Given the description of an element on the screen output the (x, y) to click on. 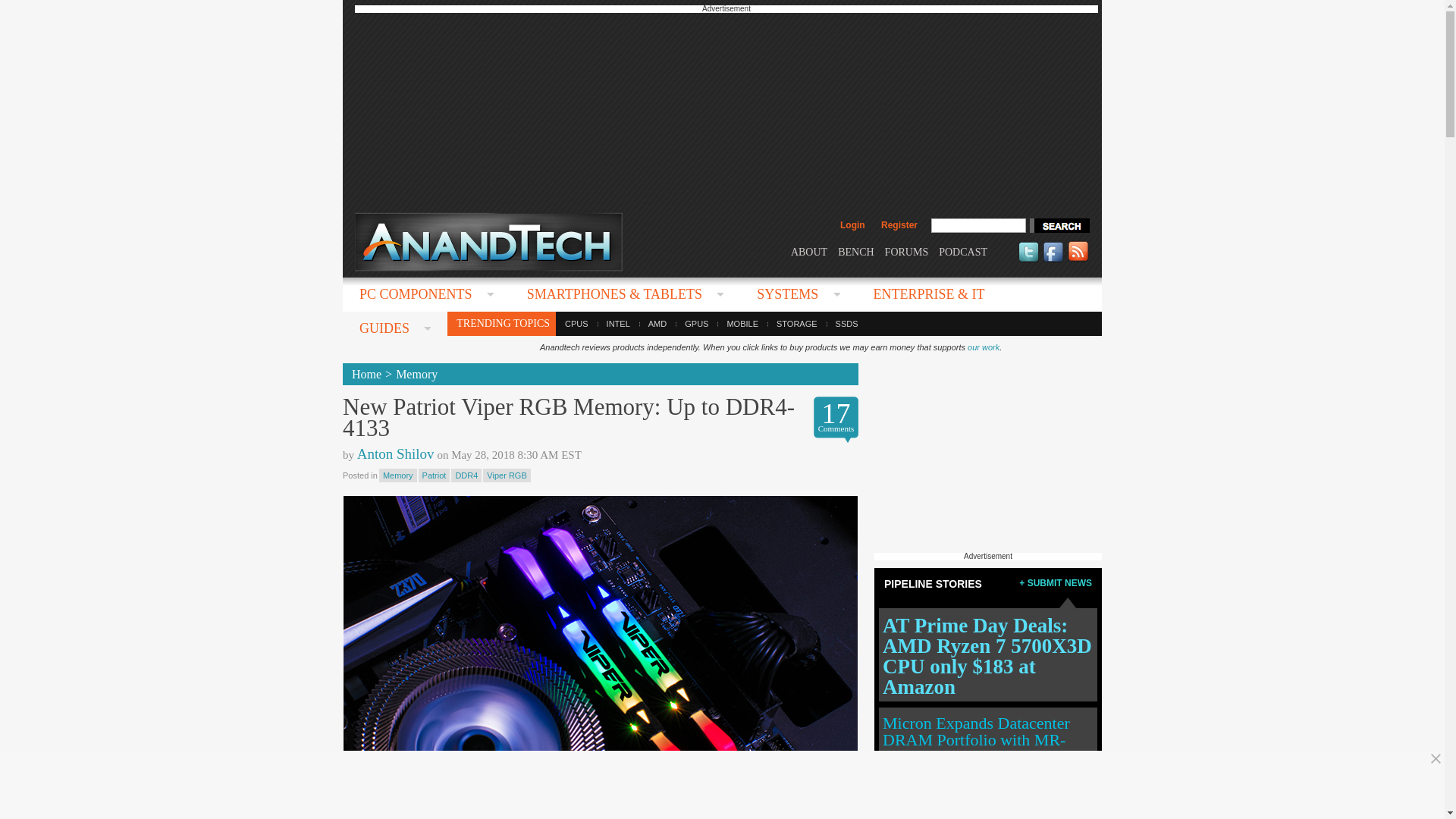
Register (898, 225)
search (1059, 225)
FORUMS (906, 251)
ABOUT (808, 251)
PODCAST (963, 251)
Login (852, 225)
search (1059, 225)
search (1059, 225)
BENCH (855, 251)
